Given the description of an element on the screen output the (x, y) to click on. 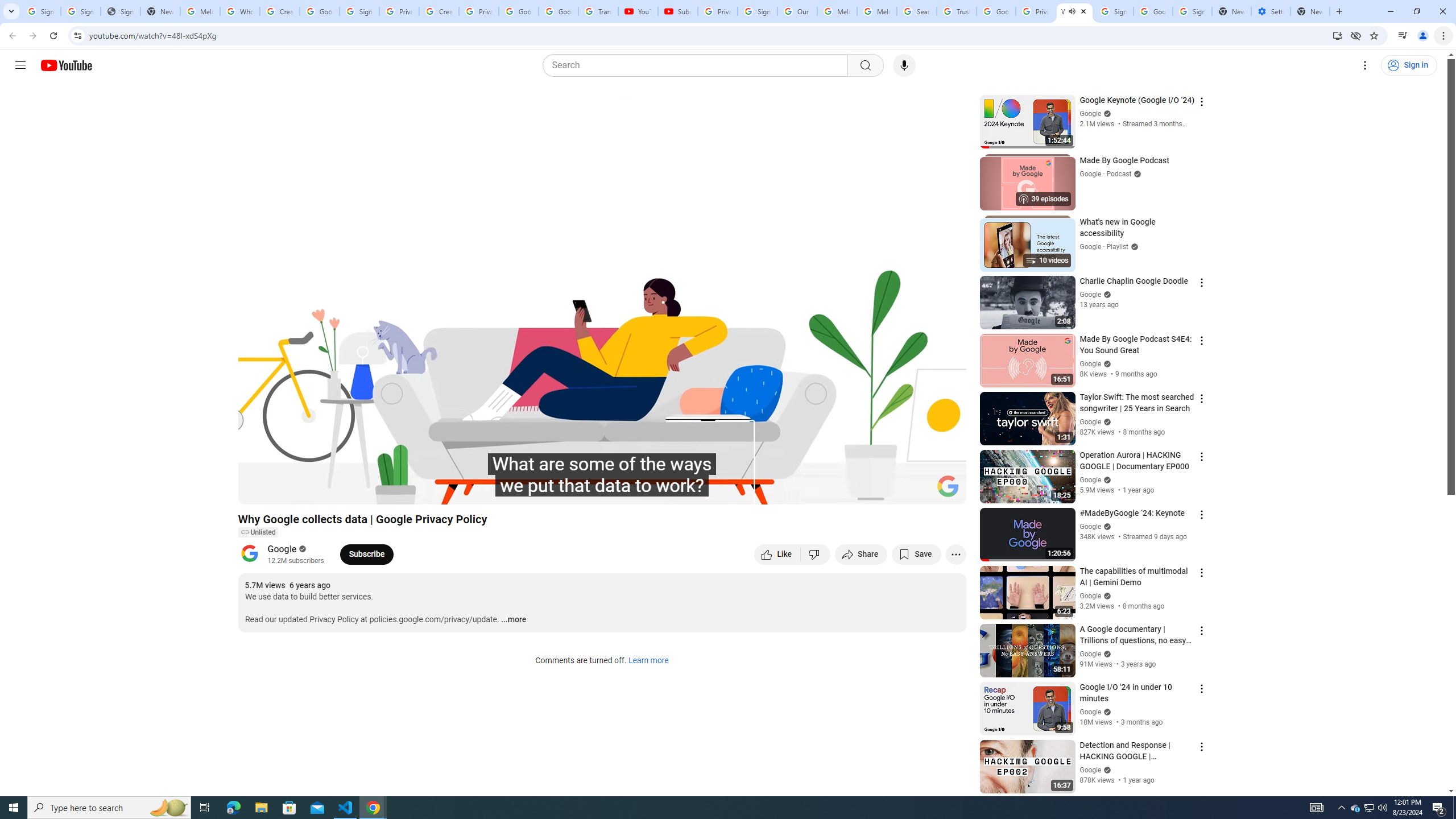
Dislike this video (815, 554)
Sign in - Google Accounts (359, 11)
Guide (20, 65)
